Given the description of an element on the screen output the (x, y) to click on. 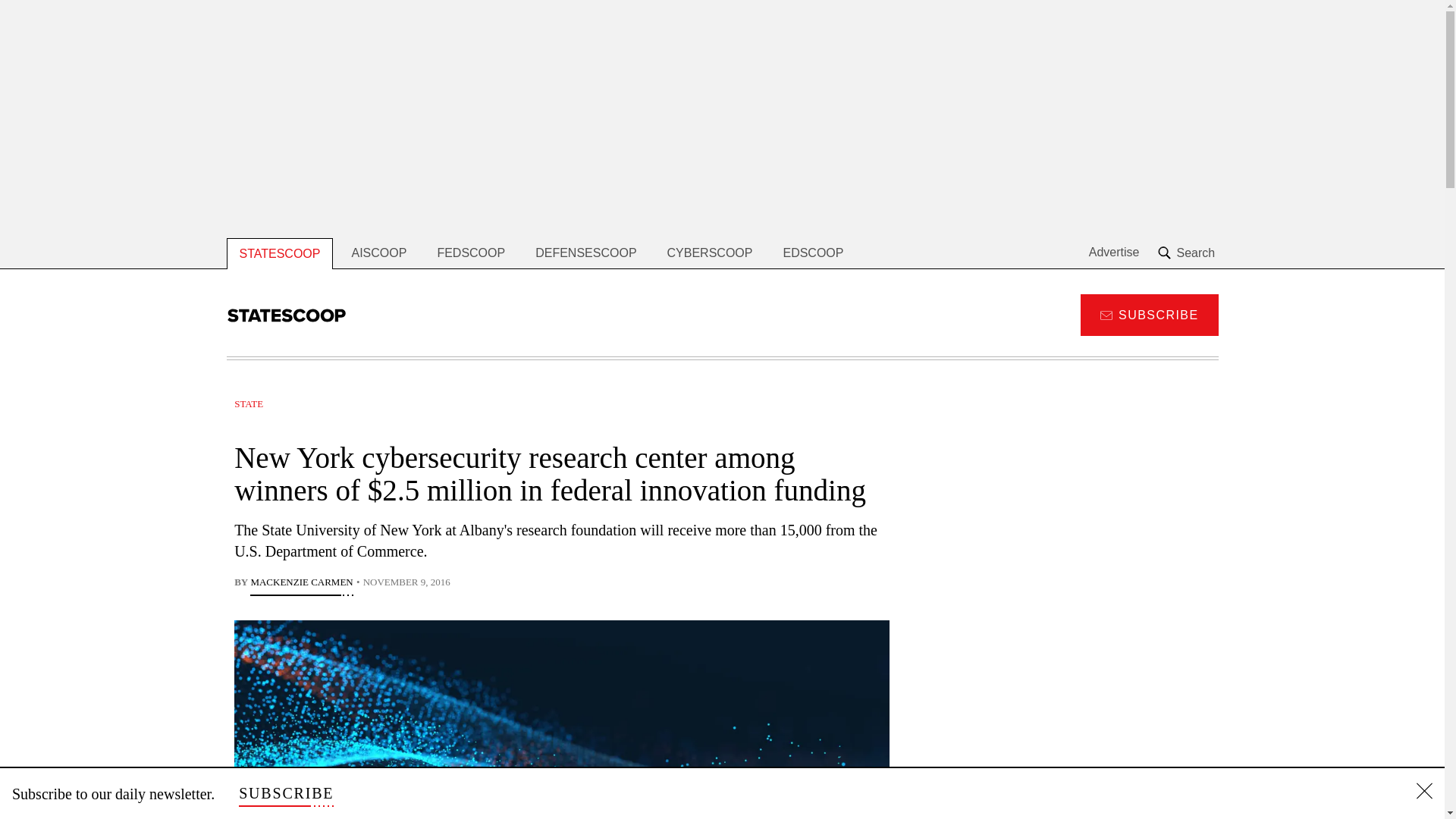
Mackenzie Carmen (301, 583)
STATE (248, 403)
CYBERSCOOP (710, 253)
SUBSCRIBE (1148, 314)
Search (1187, 252)
MACKENZIE CARMEN (301, 583)
DEFENSESCOOP (584, 253)
SUBSCRIBE (285, 793)
Advertise (1114, 252)
